Given the description of an element on the screen output the (x, y) to click on. 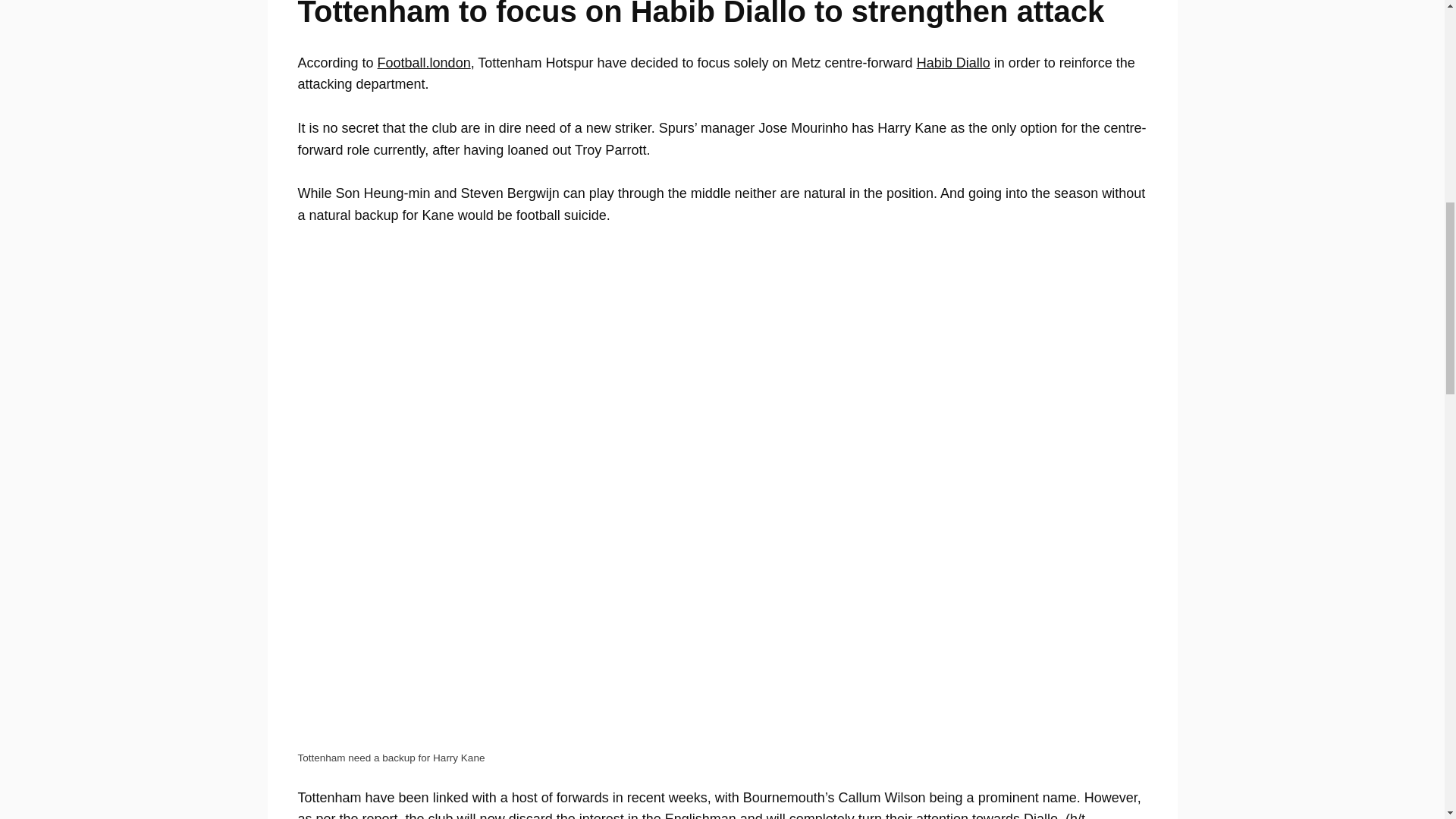
Habib Diallo (953, 62)
Football.london (423, 62)
